Given the description of an element on the screen output the (x, y) to click on. 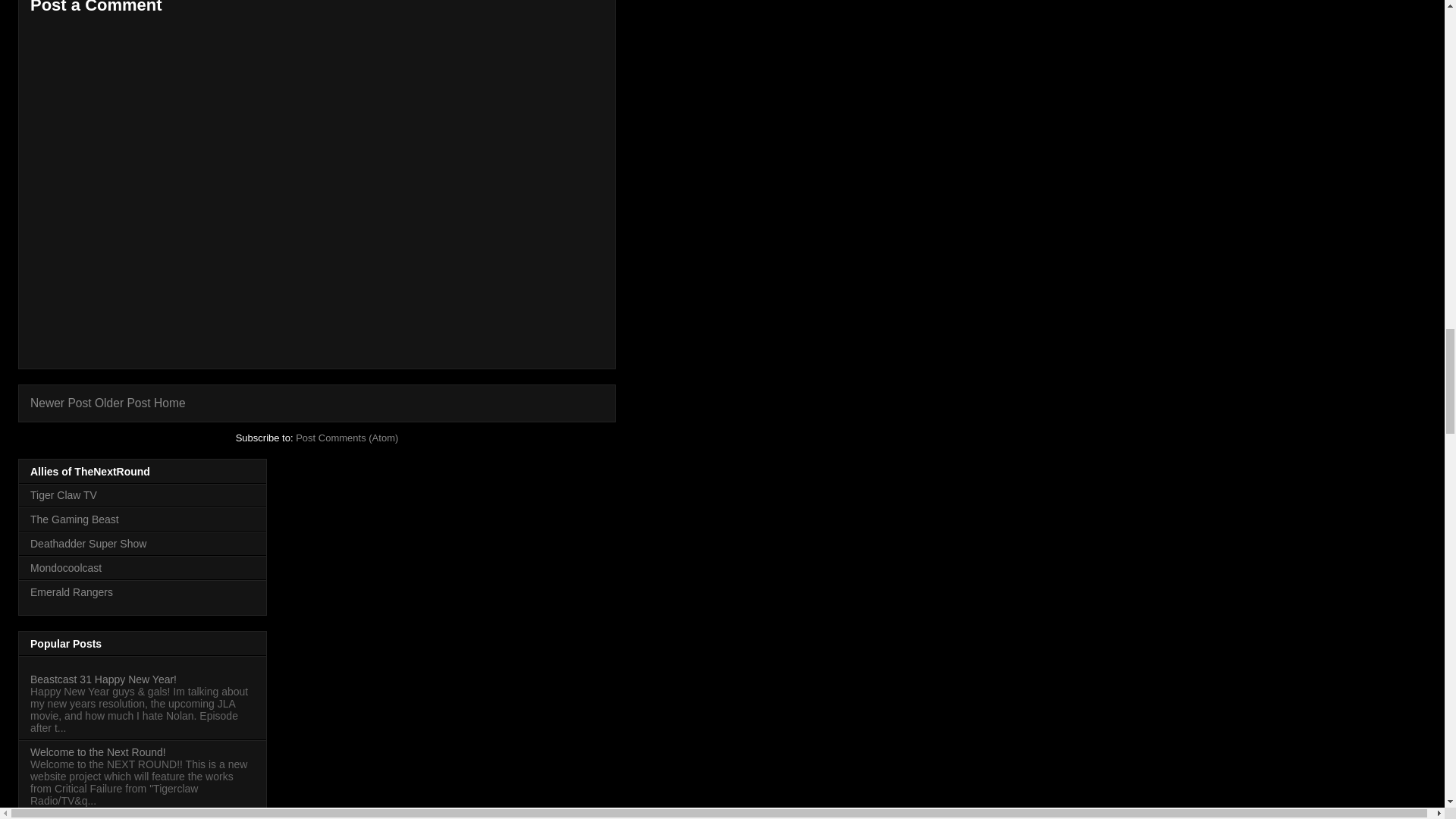
Older Post (122, 402)
Newer Post (60, 402)
